Given the description of an element on the screen output the (x, y) to click on. 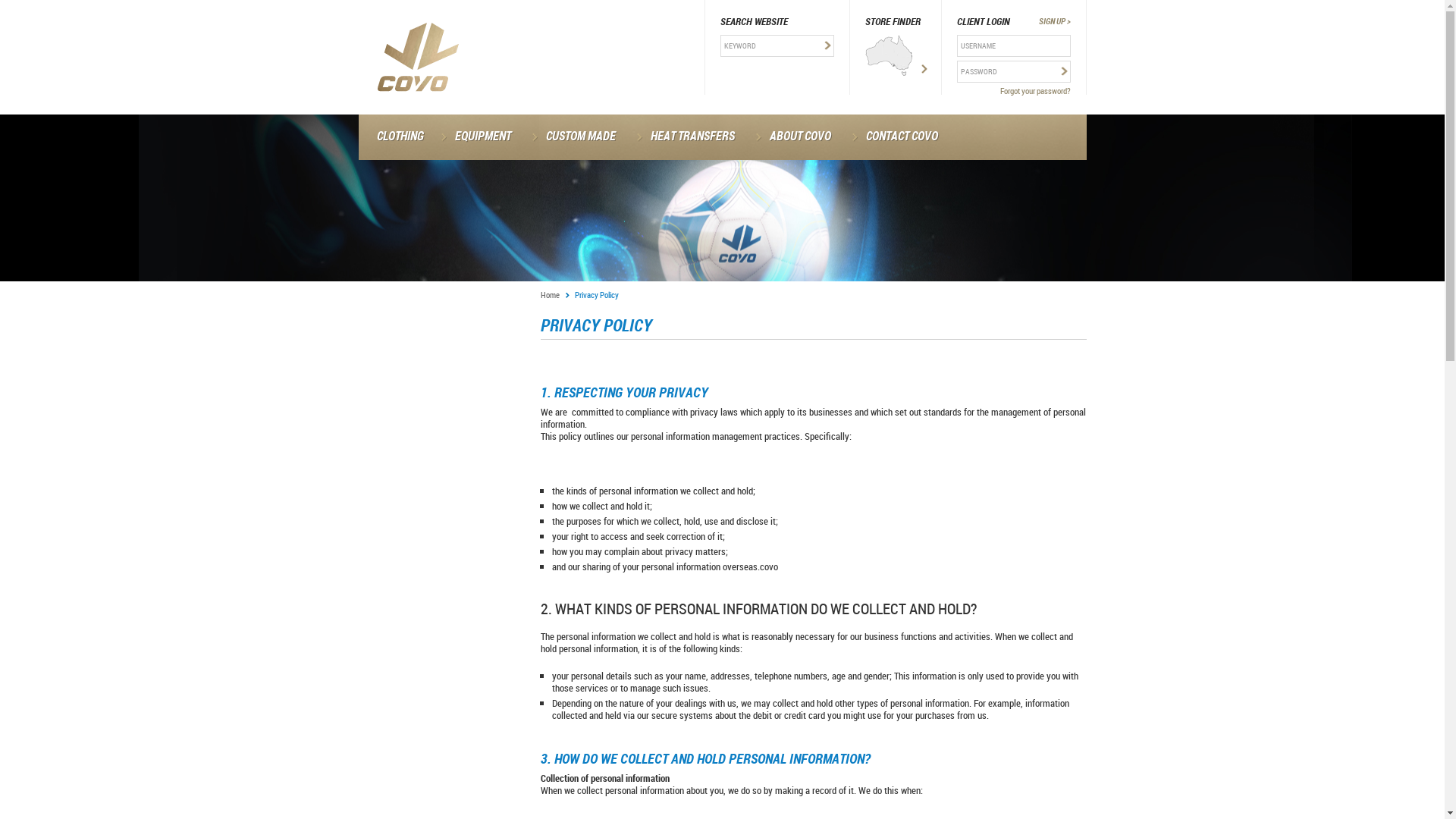
ABOUT COVO Element type: text (797, 137)
CUSTOM MADE Element type: text (578, 137)
Forgot your password? Element type: text (1013, 90)
EQUIPMENT Element type: text (480, 137)
Home Element type: text (553, 294)
CONTACT COVO Element type: text (899, 137)
CLOTHING Element type: text (395, 137)
HEAT TRANSFERS Element type: text (689, 137)
SIGN UP > Element type: text (1054, 21)
